Given the description of an element on the screen output the (x, y) to click on. 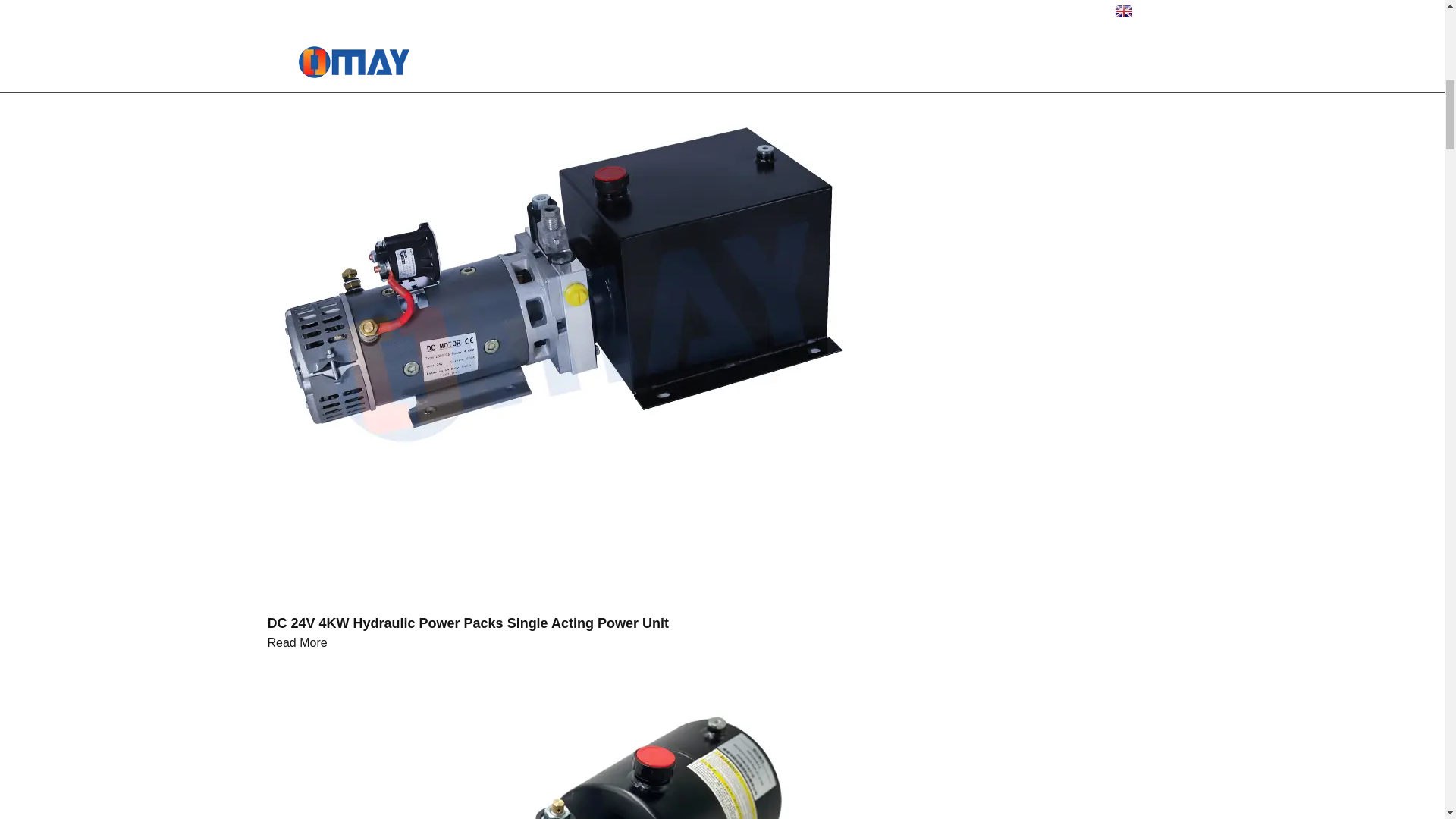
DC 24V 4KW Hydraulic Power Packs Single Acting Power Unit (467, 622)
DC 24V 4KW Hydraulic Power Packs Single Acting Power Unit (296, 642)
Read More (296, 642)
DC 24V 4KW Hydraulic Power Packs Single Acting Power Unit (467, 622)
DC 24V 4KW Hydraulic Power Packs Single Acting Power Unit (569, 297)
